Given the description of an element on the screen output the (x, y) to click on. 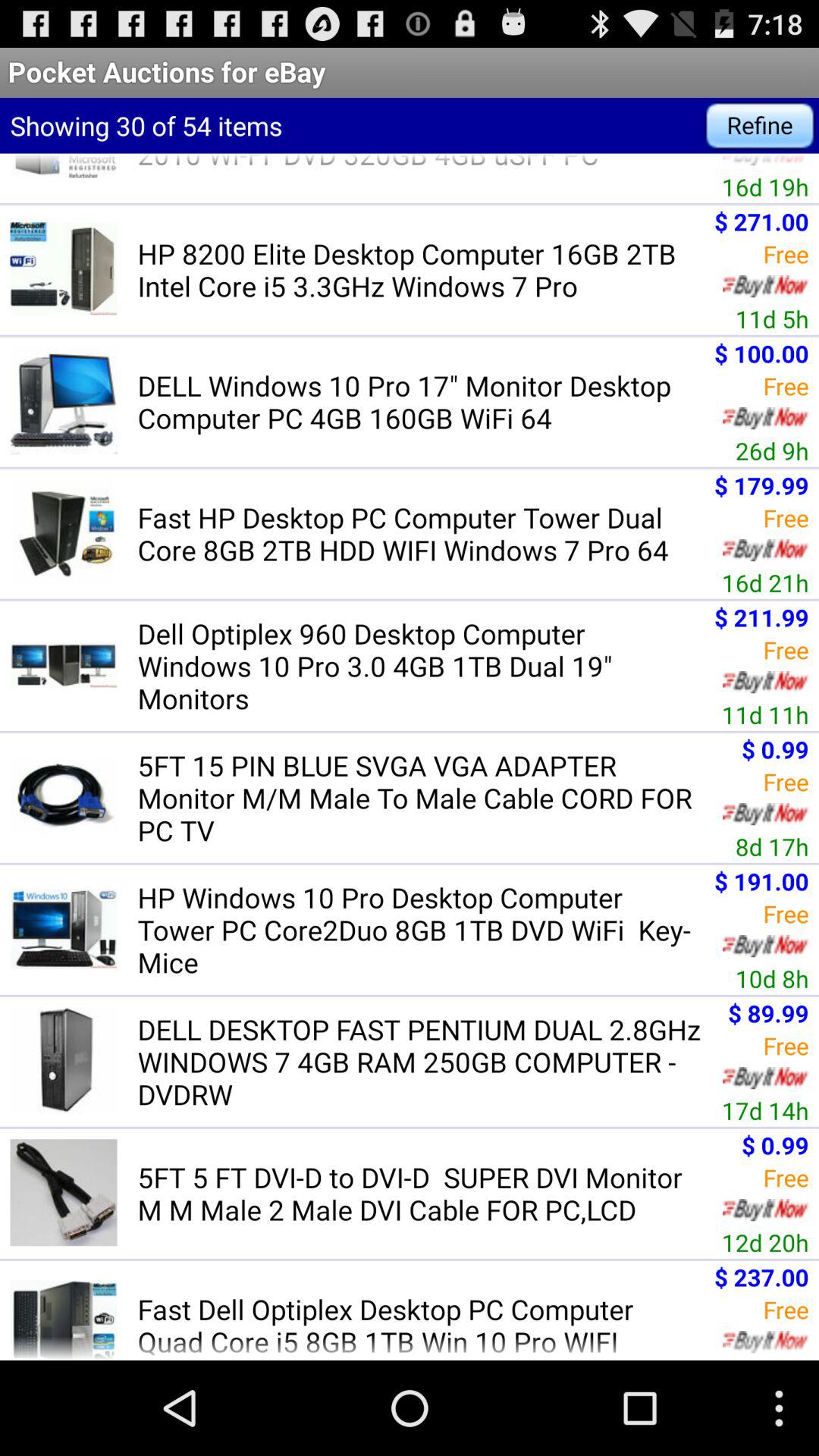
launch hp 8200 elite (420, 269)
